Given the description of an element on the screen output the (x, y) to click on. 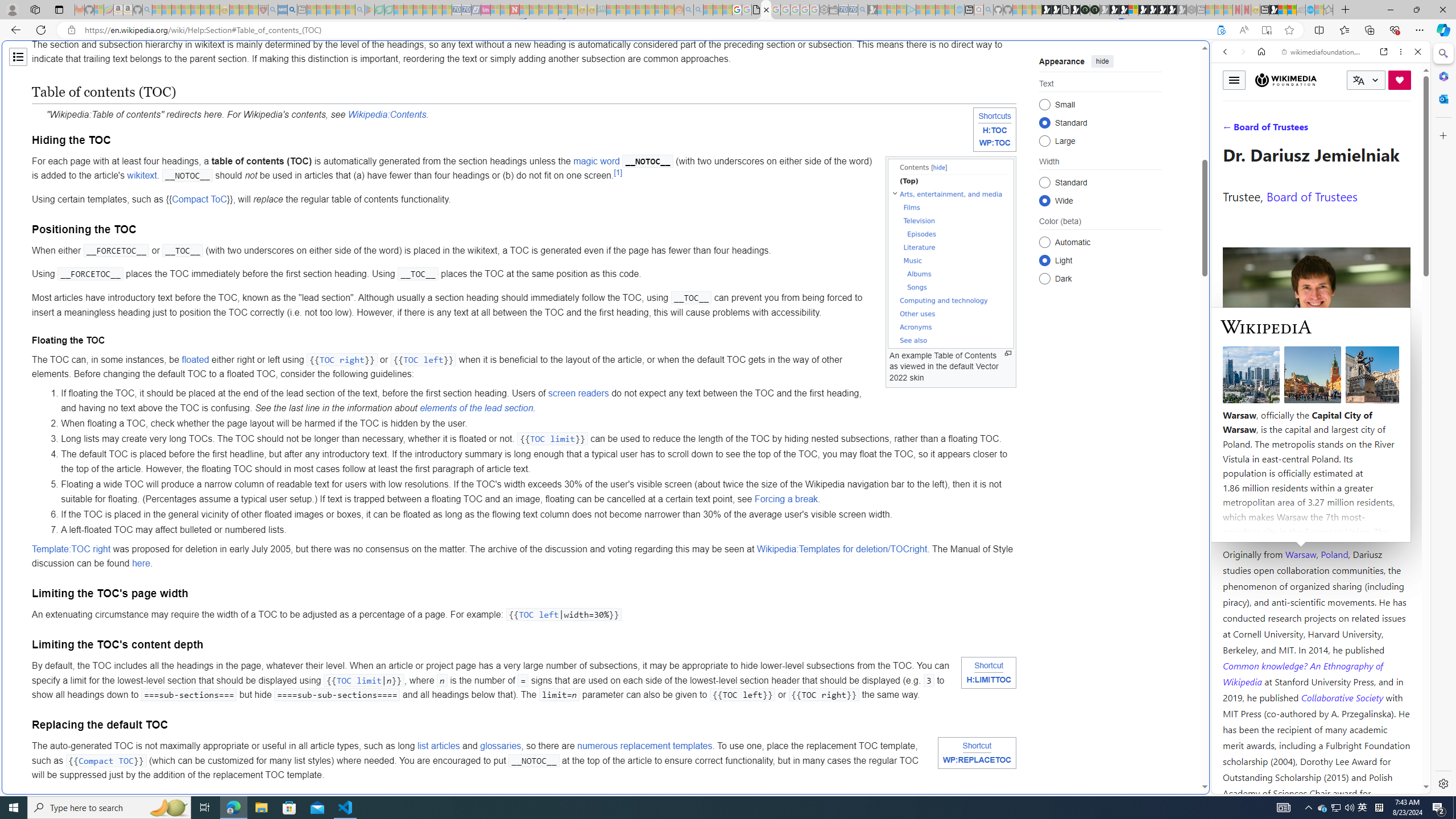
Web scope (1230, 102)
Small (1044, 104)
MSNBC - MSN - Sleeping (611, 9)
elements of the lead section (475, 407)
